Given the description of an element on the screen output the (x, y) to click on. 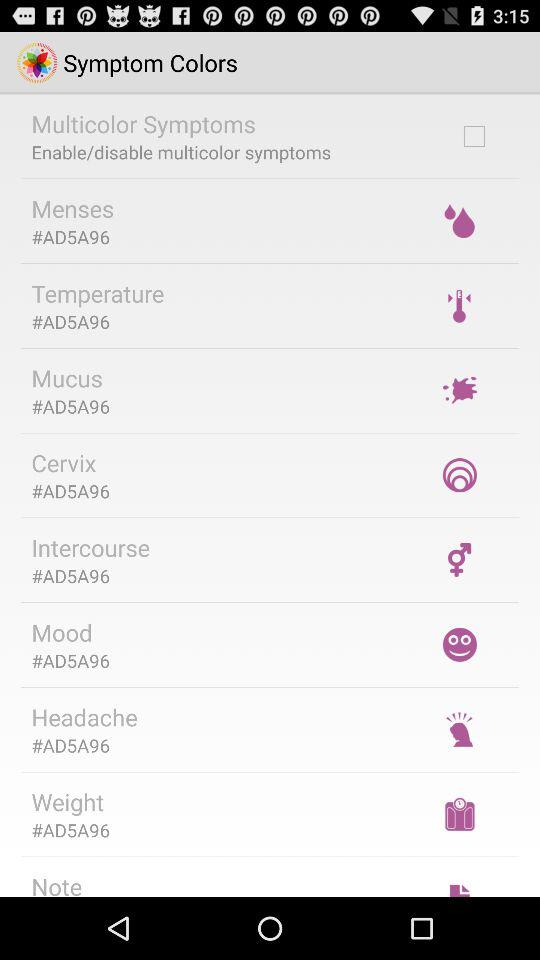
tap the icon below #ad5a96 item (61, 632)
